Given the description of an element on the screen output the (x, y) to click on. 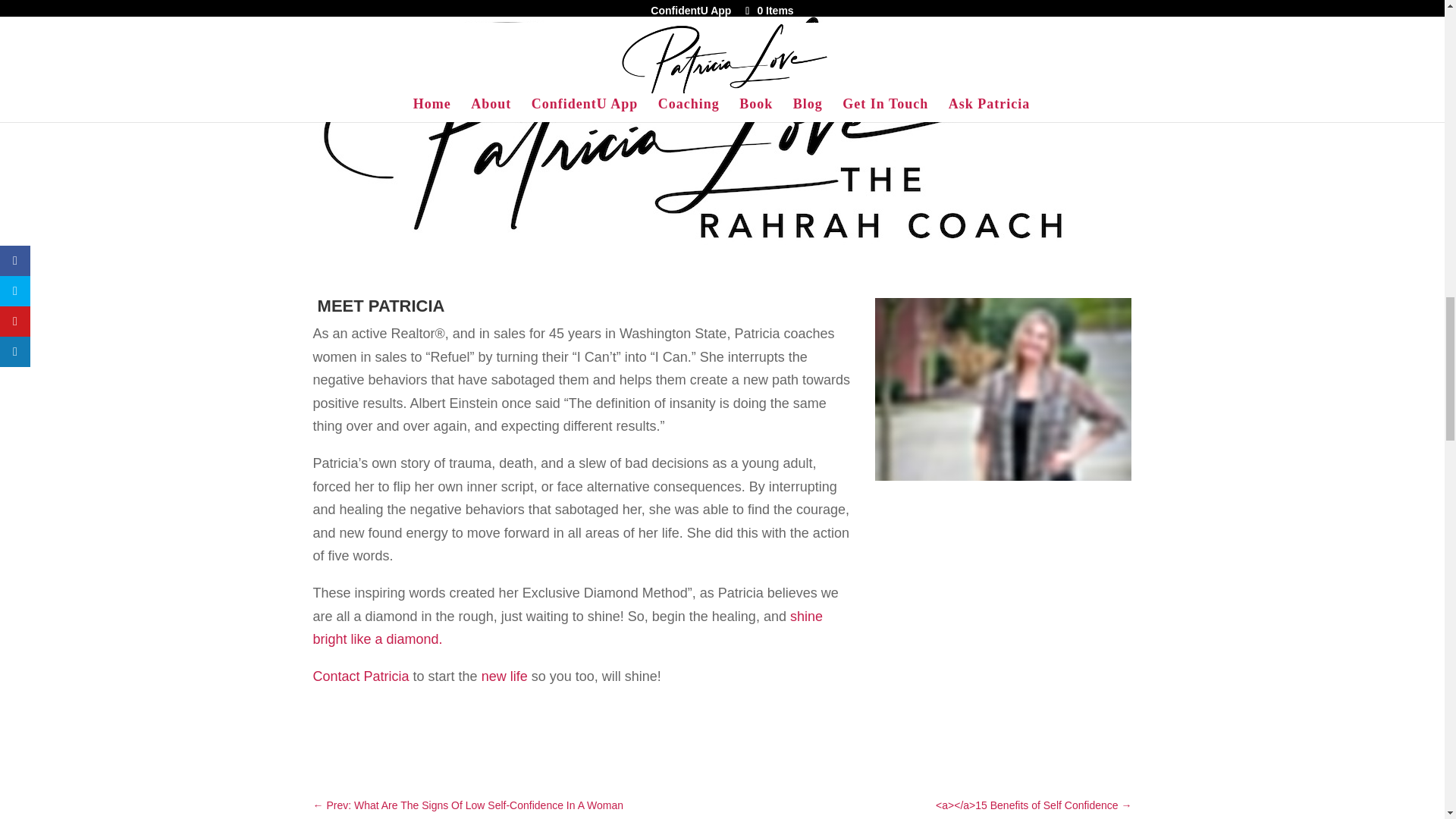
Follow on Facebook (324, 733)
shine bright like a diamond. (567, 628)
Follow on Instagram (384, 733)
Follow on Pinterest (415, 733)
Contact Patricia (361, 676)
Follow on X (354, 733)
Follow on LinkedIn (445, 733)
new life (504, 676)
